Given the description of an element on the screen output the (x, y) to click on. 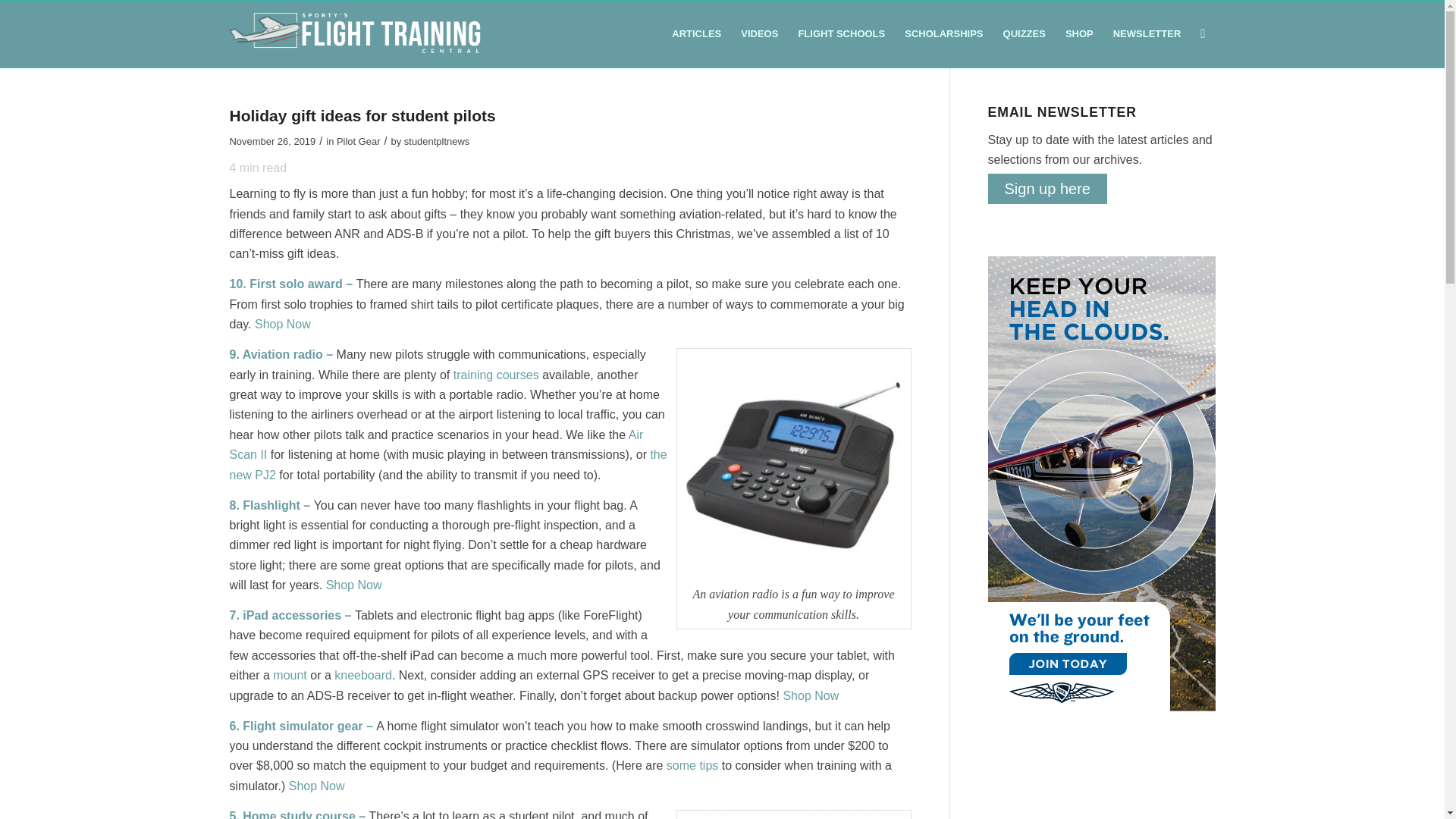
Aviation Flight Training Scholarship Directory (943, 33)
Shop Now (353, 584)
training courses (495, 374)
Screen protectors for iPad (282, 323)
kneeboard (362, 675)
Pilot Gear (358, 141)
mount (289, 675)
Shop Now (810, 695)
studentpltnews (436, 141)
iPad Kneeboards (810, 695)
NEWSLETTER (1147, 33)
some tips (691, 765)
Shop Now (282, 323)
Air Scan II (435, 444)
SCHOLARSHIPS (943, 33)
